Given the description of an element on the screen output the (x, y) to click on. 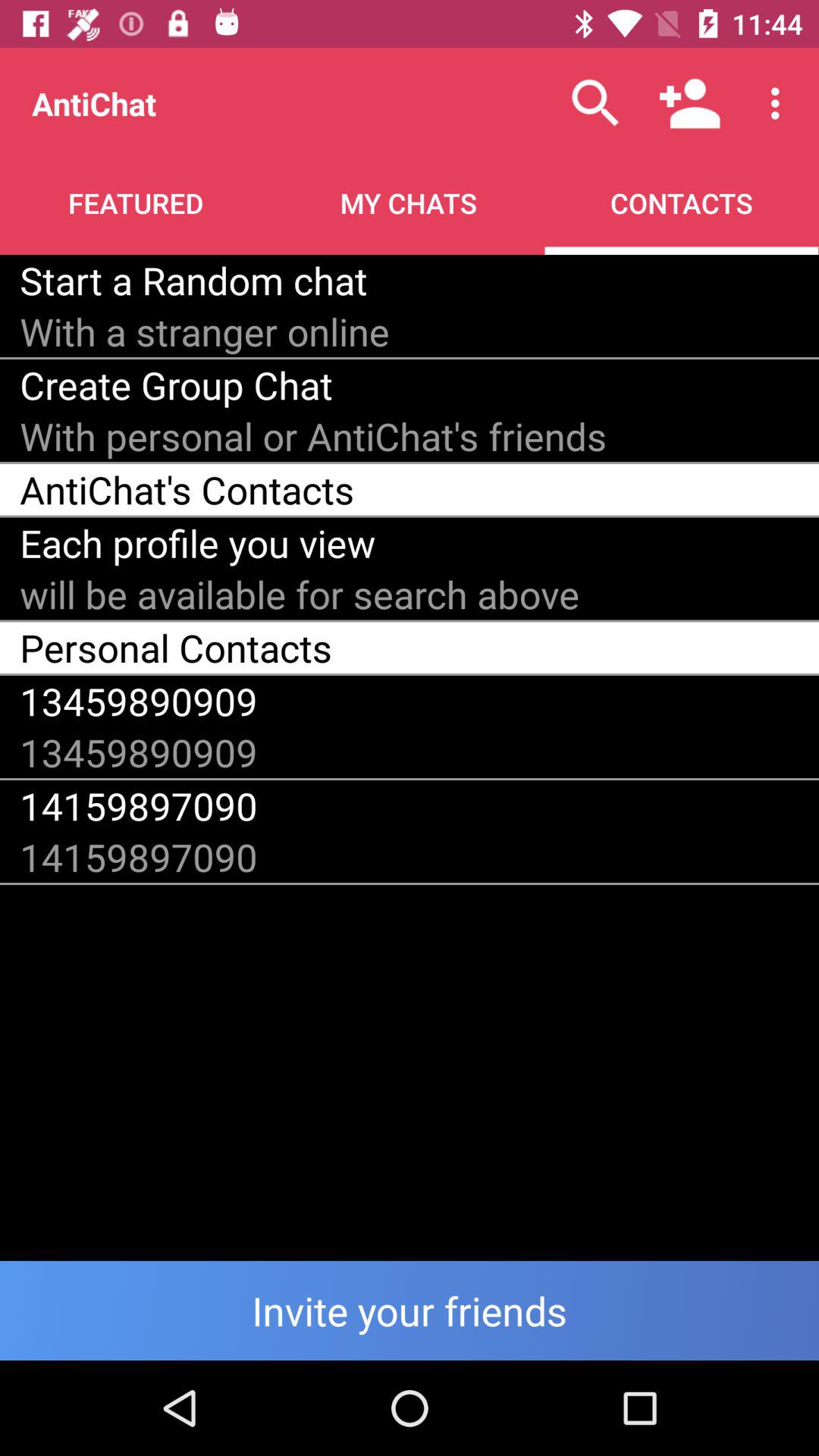
select icon below will be available (175, 647)
